Given the description of an element on the screen output the (x, y) to click on. 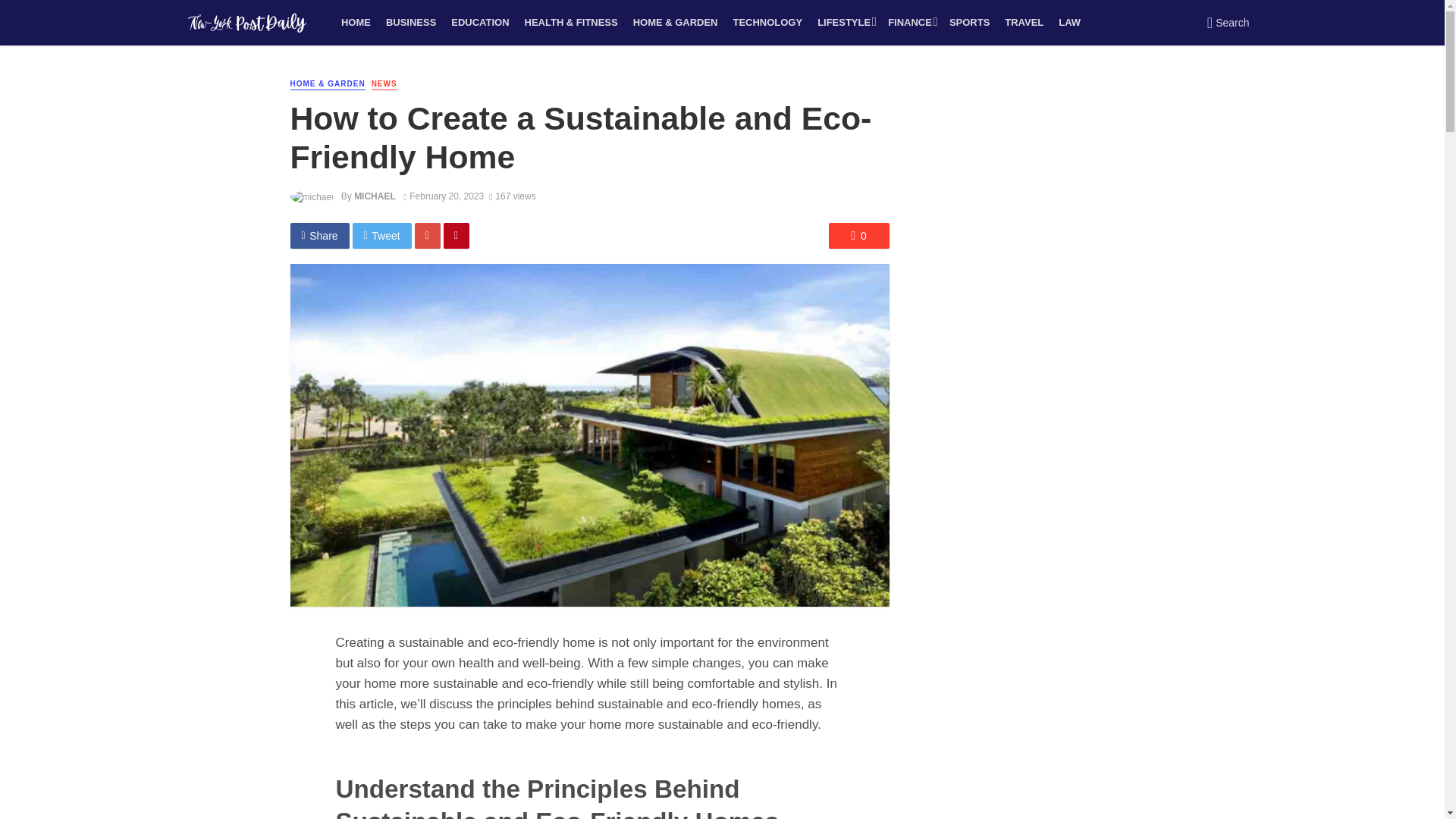
Posts by michael (374, 195)
February 20, 2023 at 3:34 pm (443, 195)
TRAVEL (1024, 22)
FINANCE (911, 22)
Search (1228, 22)
Share (319, 235)
MICHAEL (374, 195)
Tweet (382, 235)
SPORTS (969, 22)
TECHNOLOGY (767, 22)
